Given the description of an element on the screen output the (x, y) to click on. 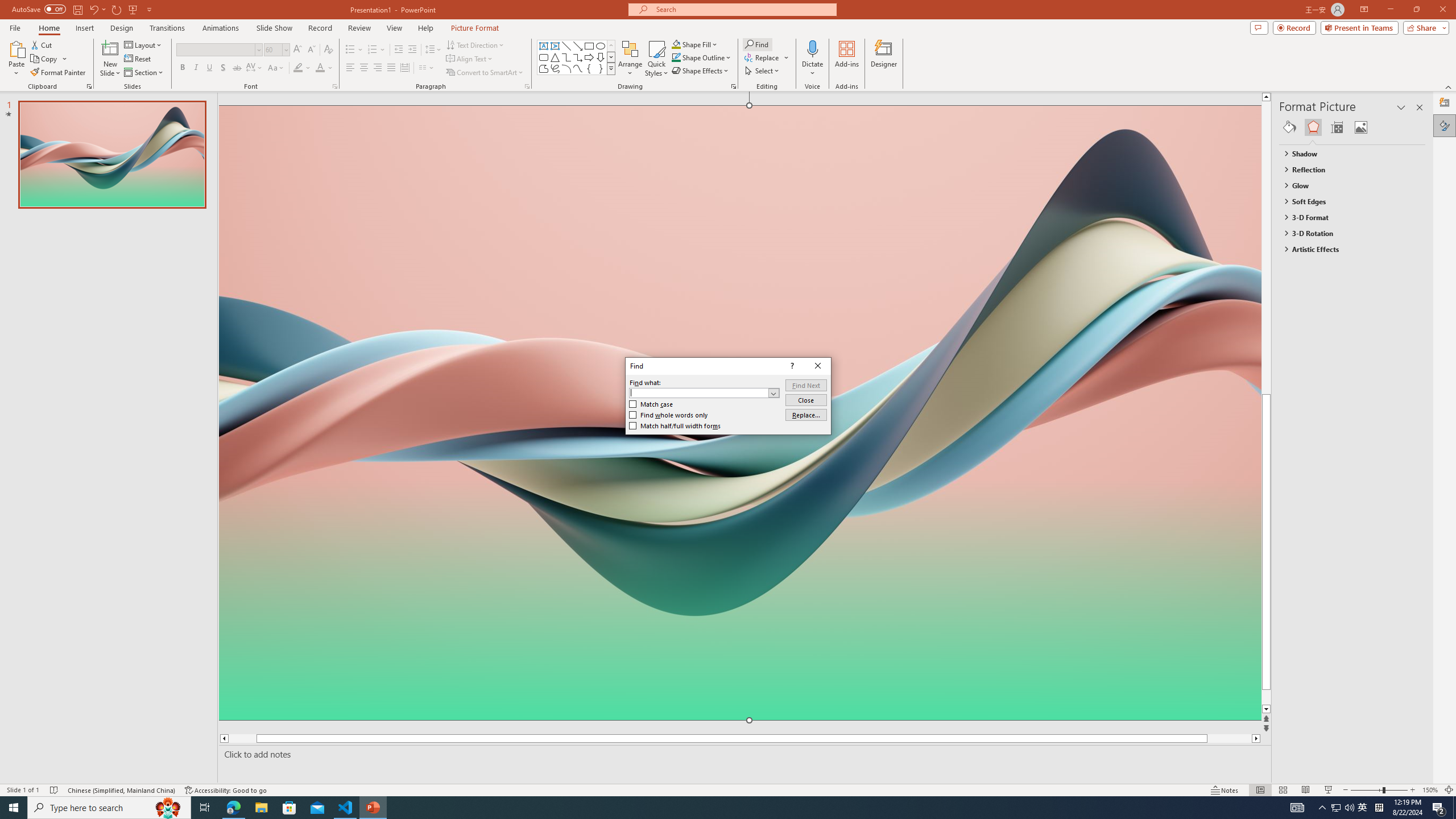
Arrange (630, 58)
Find what (704, 393)
Align Text (470, 58)
Oval (600, 45)
